Given the description of an element on the screen output the (x, y) to click on. 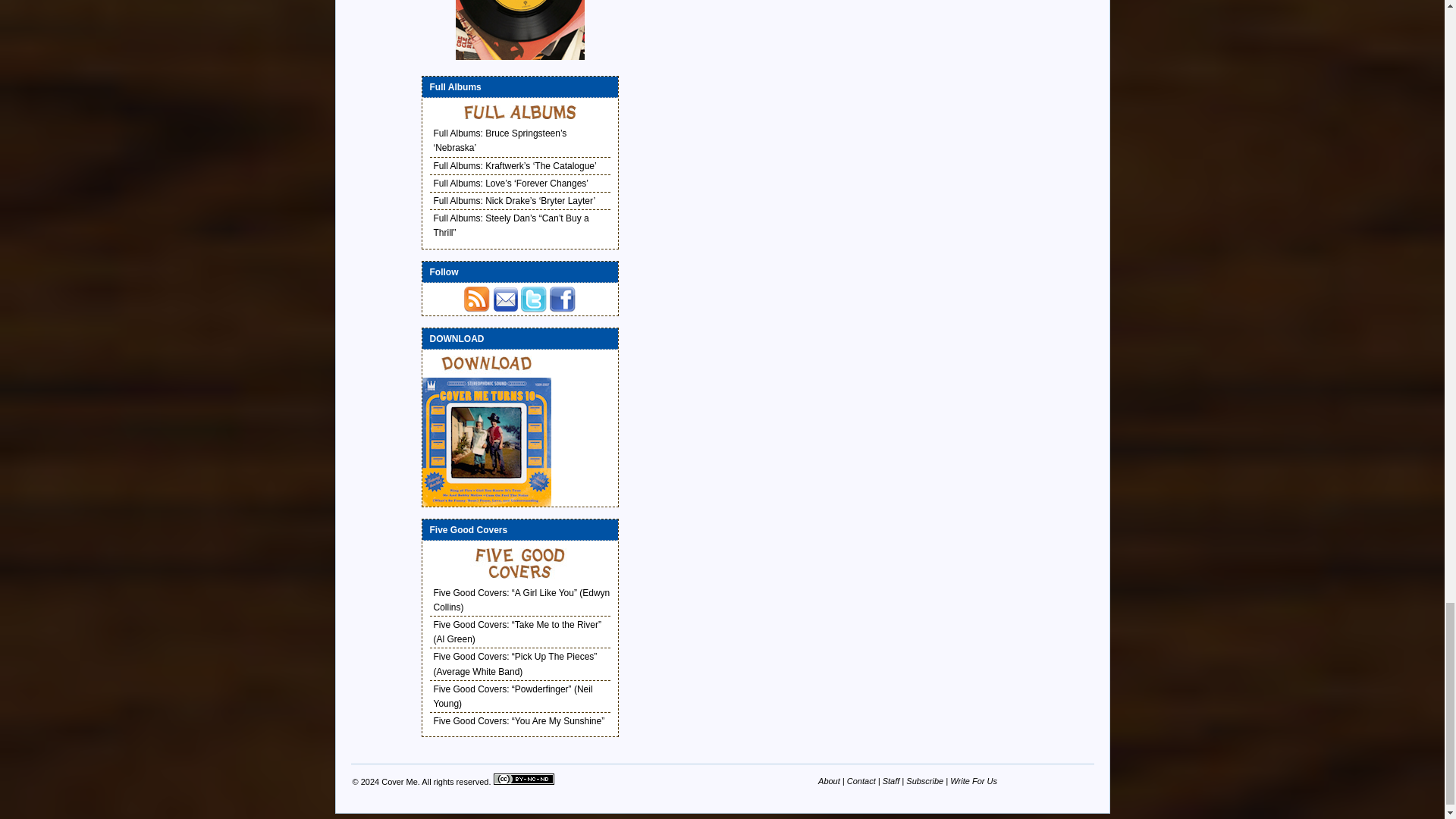
Full Albums (520, 111)
Five Good Covers (520, 562)
